Given the description of an element on the screen output the (x, y) to click on. 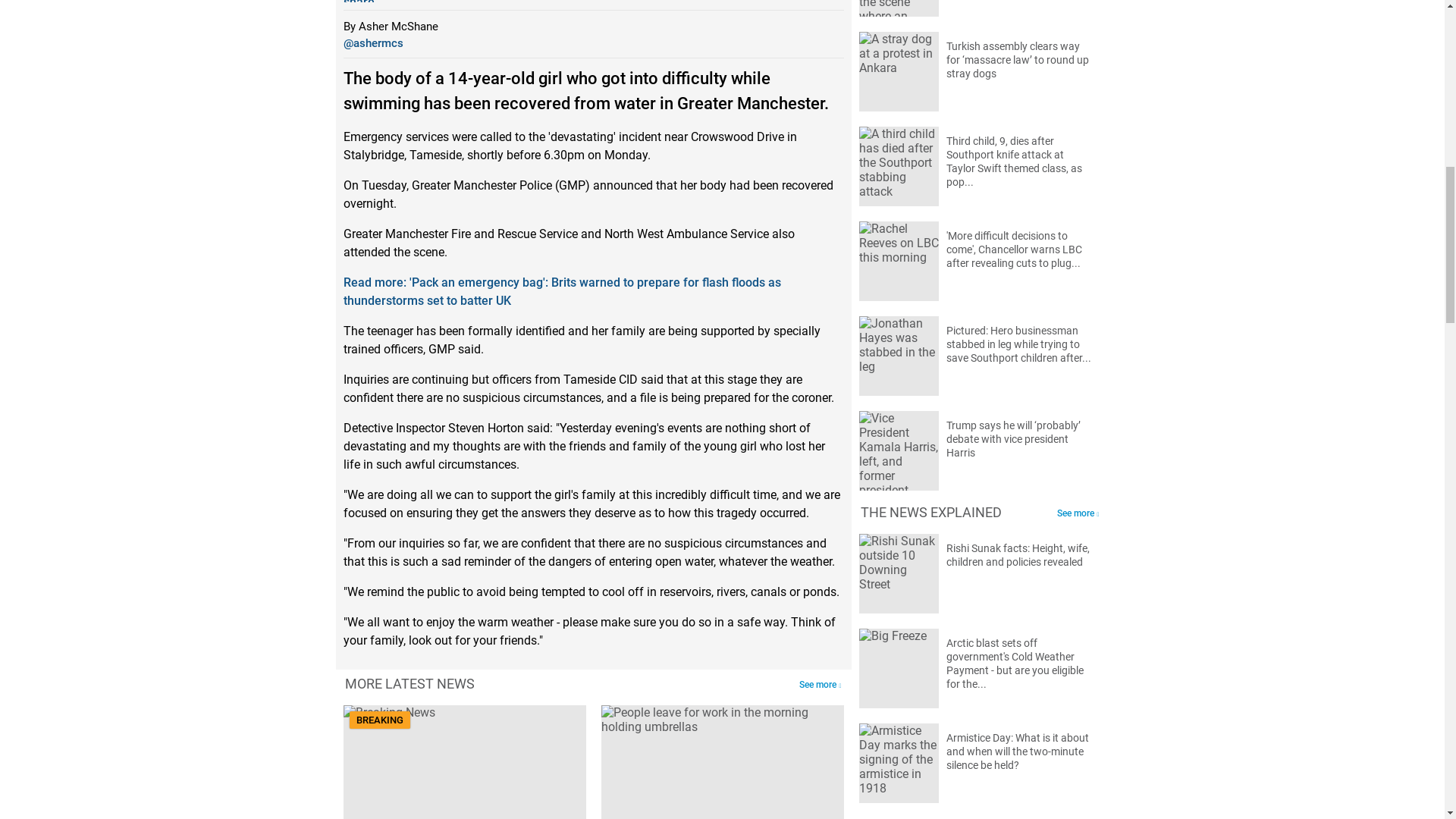
Follow Asher McShane on X (372, 42)
